Given the description of an element on the screen output the (x, y) to click on. 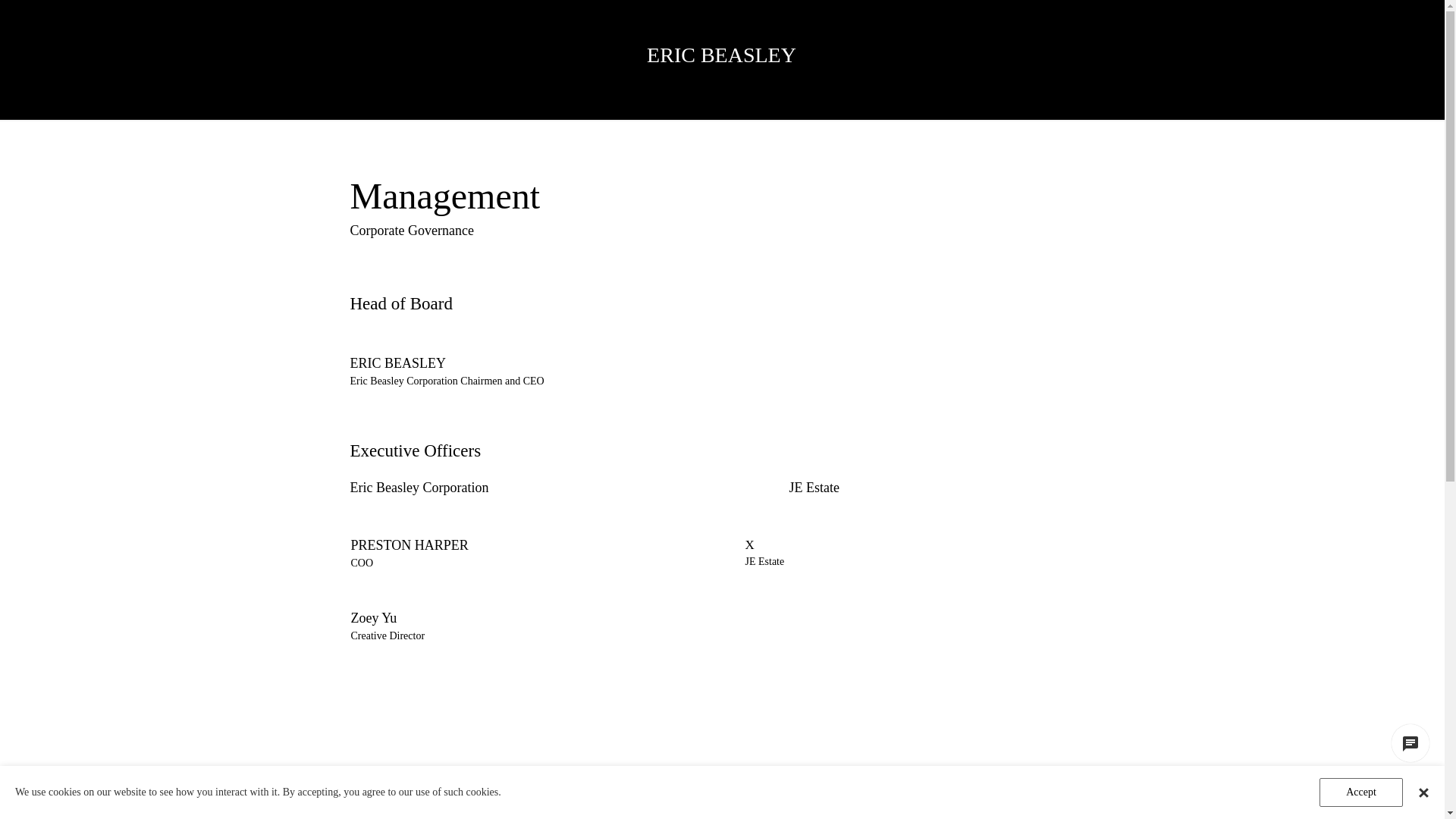
CUSTOMIZE Element type: text (653, 100)
PROS Element type: text (532, 100)
LIFESTYLE SHOP Element type: text (1032, 100)
  Element type: text (722, 39)
ERIC BEASLEY Element type: text (721, 54)
Accept Element type: text (1360, 792)
HOME Element type: text (410, 100)
